Given the description of an element on the screen output the (x, y) to click on. 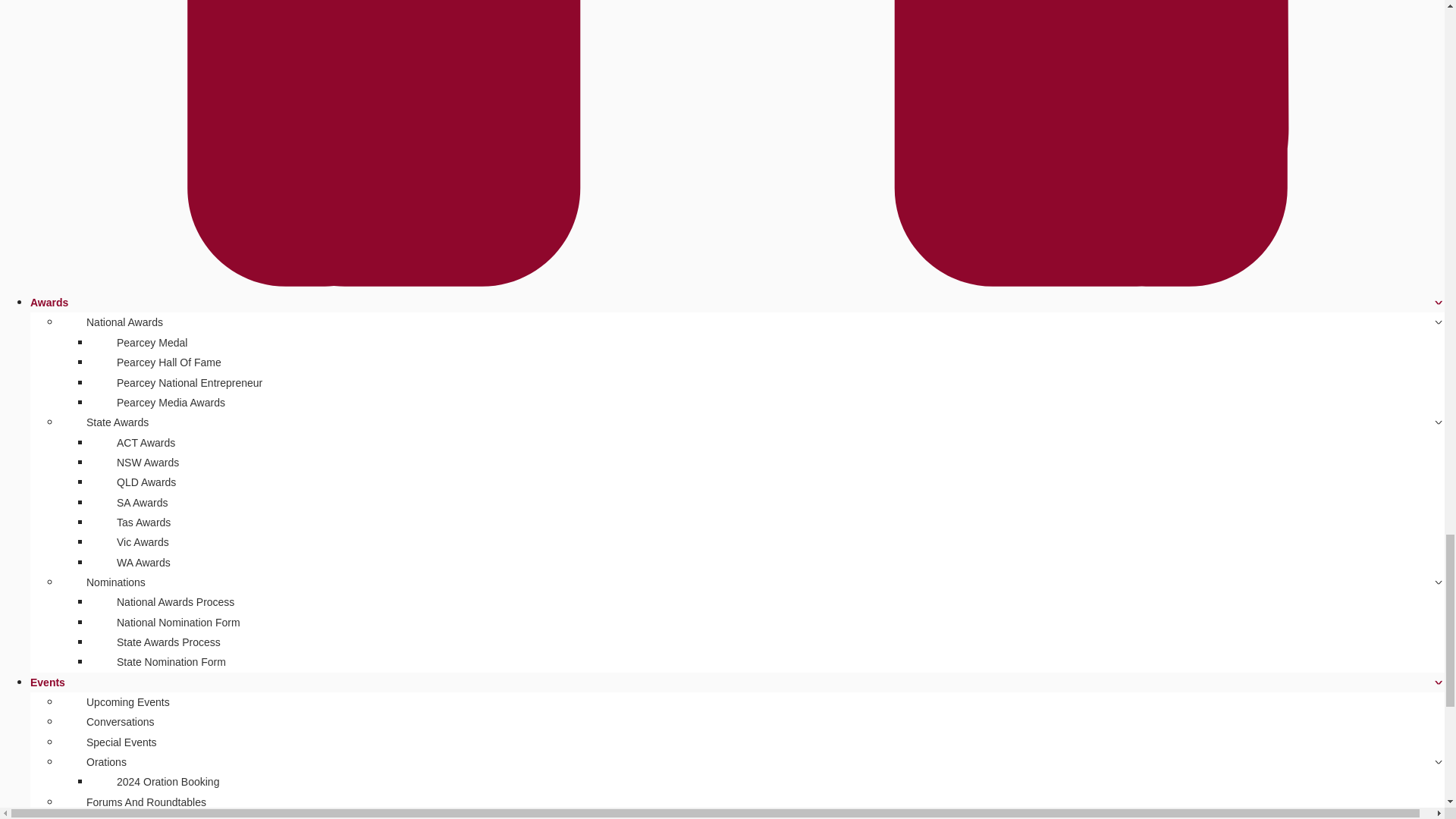
Awards (49, 302)
Pearcey National Entrepreneur (189, 382)
Vic Awards (142, 542)
ACT Awards (145, 442)
Events (47, 682)
State Awards Process (168, 641)
Pearcey Media Awards (170, 402)
Tas Awards (143, 522)
SA Awards (141, 502)
2024 Oration Booking (167, 781)
